Given the description of an element on the screen output the (x, y) to click on. 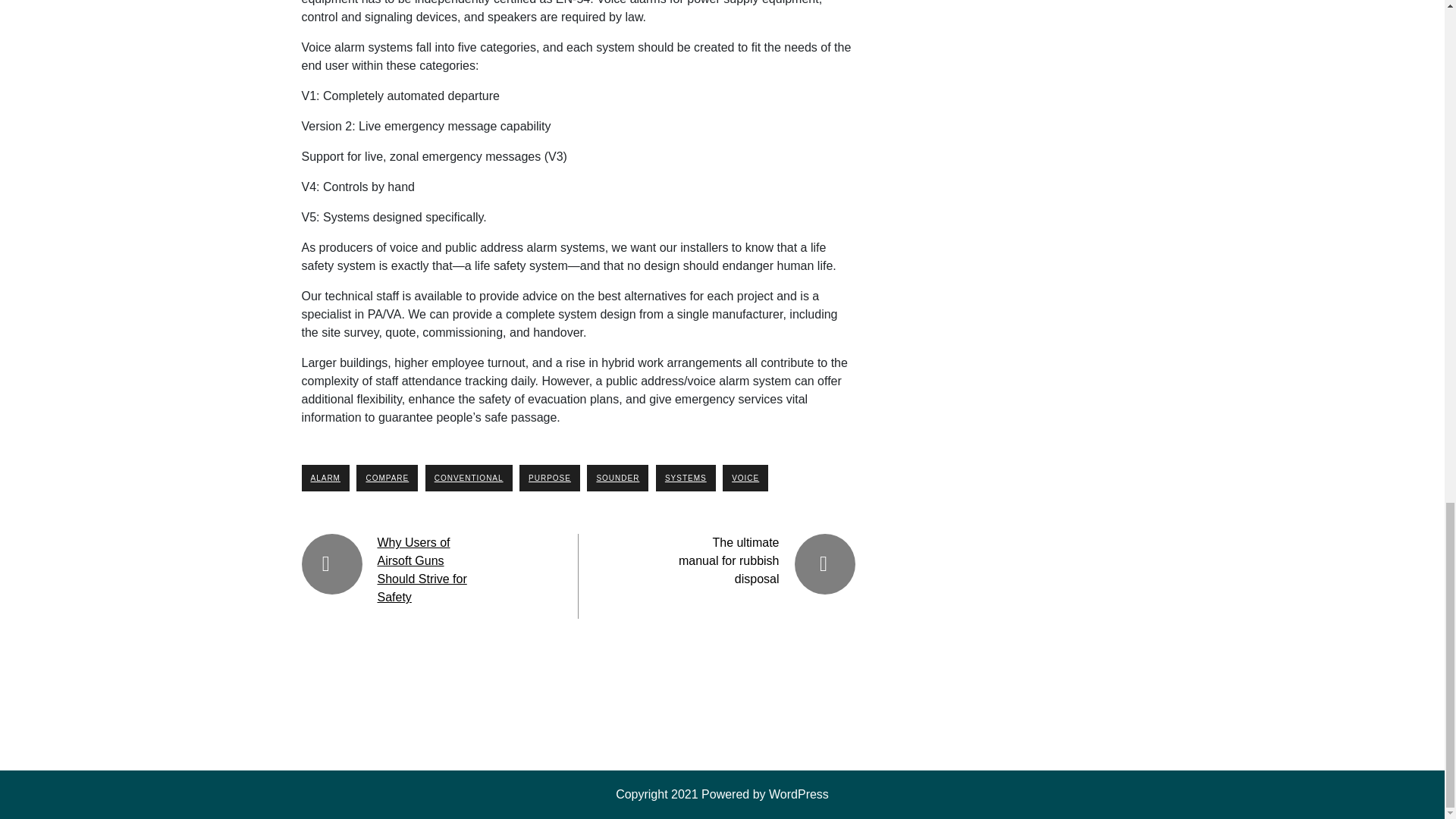
VOICE (745, 478)
The ultimate manual for rubbish disposal (728, 560)
SOUNDER (616, 478)
PURPOSE (549, 478)
SYSTEMS (686, 478)
Why Users of Airsoft Guns Should Strive for Safety (422, 569)
CONVENTIONAL (468, 478)
ALARM (325, 478)
COMPARE (386, 478)
